Given the description of an element on the screen output the (x, y) to click on. 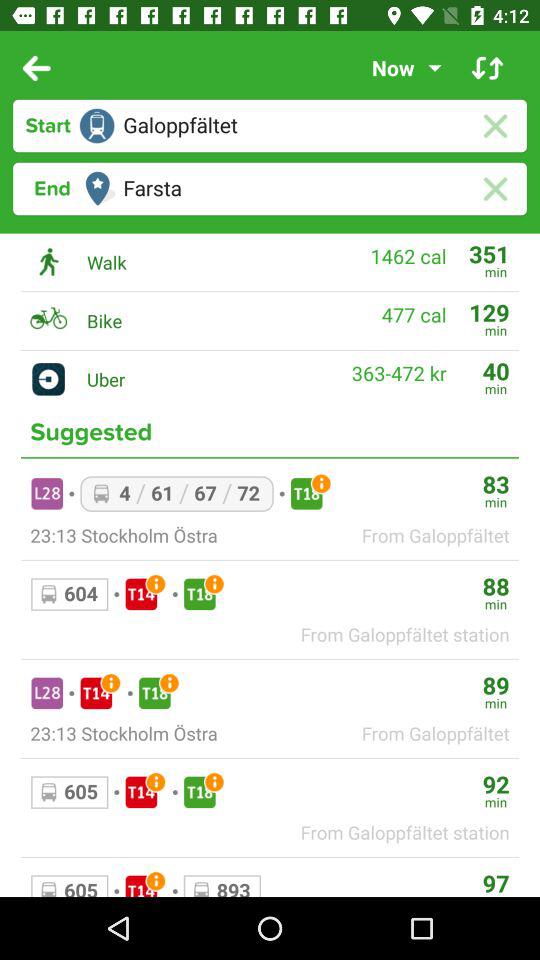
cancel search (494, 125)
